Given the description of an element on the screen output the (x, y) to click on. 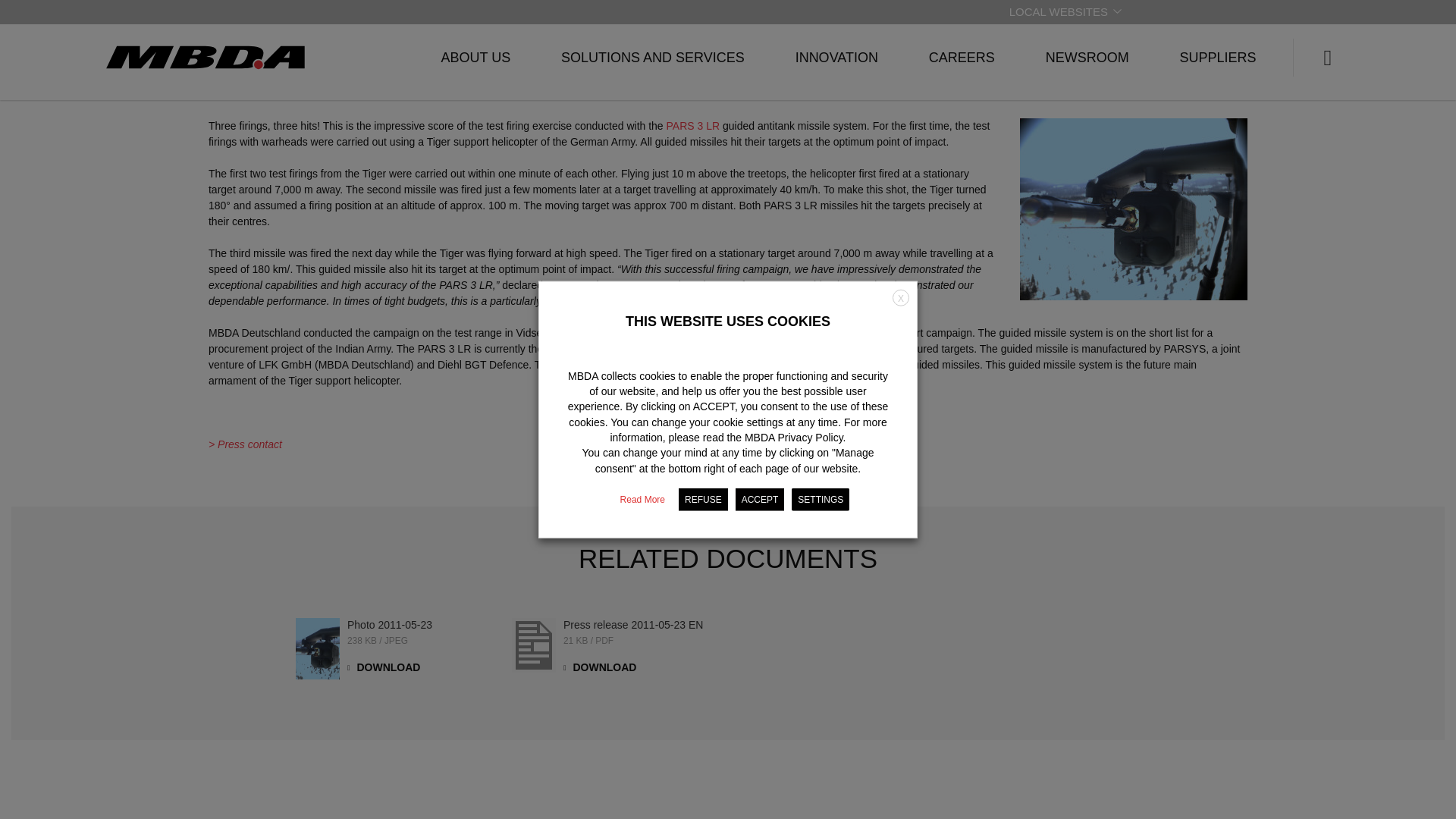
Close and Accept (900, 98)
